Given the description of an element on the screen output the (x, y) to click on. 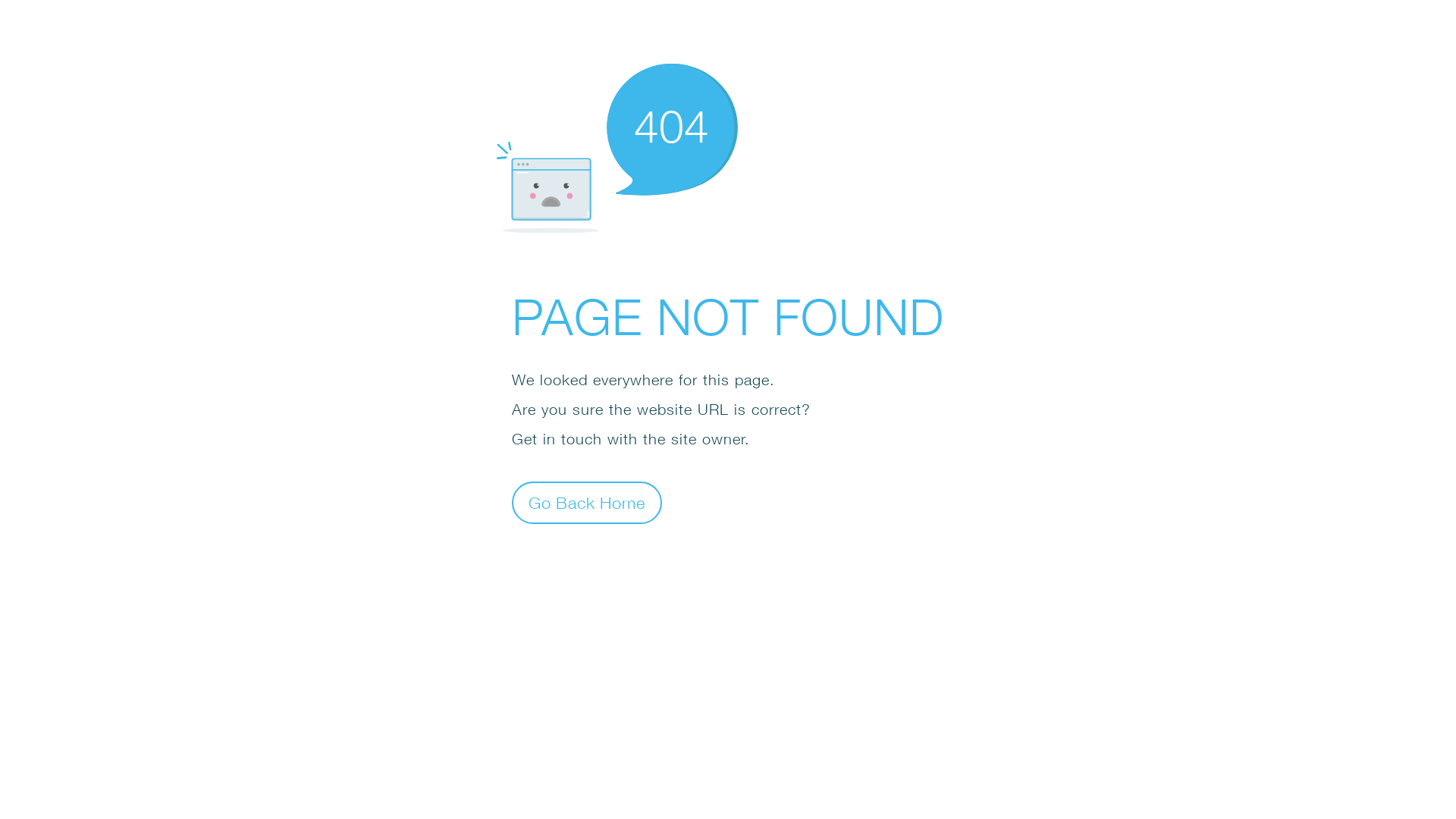
Go Back Home Element type: text (586, 502)
